Given the description of an element on the screen output the (x, y) to click on. 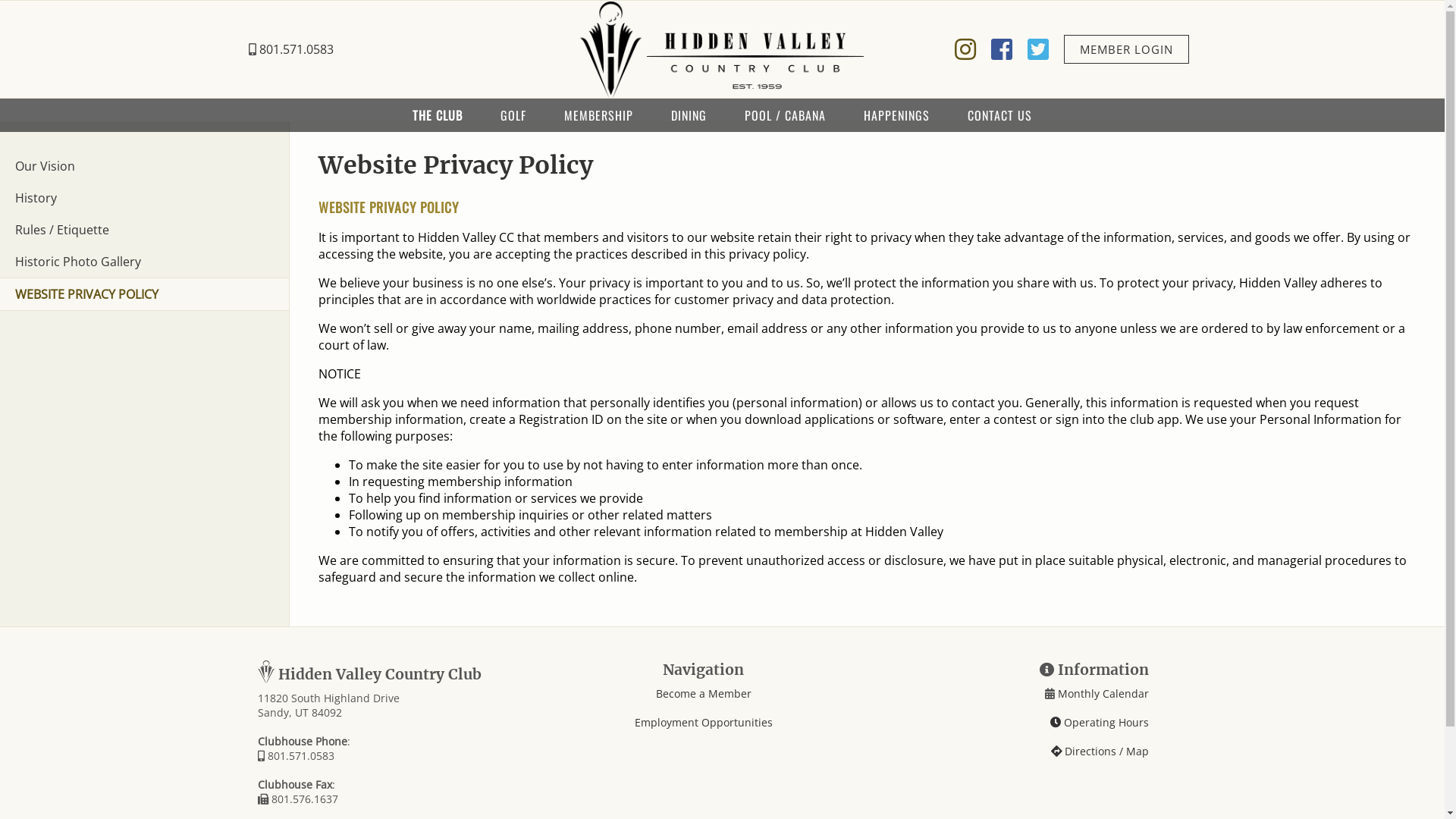
Rules / Etiquette Element type: text (144, 229)
Historic Photo Gallery Element type: text (144, 261)
801.571.0583 Element type: text (290, 48)
Our Vision Element type: text (144, 166)
CONTACT US Element type: text (999, 114)
Employment Opportunities Element type: text (702, 722)
Directions / Map Element type: text (1099, 750)
DINING Element type: text (688, 114)
THE CLUB Element type: text (437, 114)
Home Element type: hover (722, 48)
HAPPENINGS Element type: text (896, 114)
Operating Hours Element type: text (1099, 722)
WEBSITE PRIVACY POLICY Element type: text (144, 293)
History Element type: text (144, 197)
Monthly Calendar Element type: text (1101, 693)
MEMBERSHIP Element type: text (598, 114)
GOLF Element type: text (513, 114)
Become a Member Element type: text (702, 693)
MEMBER LOGIN Element type: text (1125, 48)
POOL / CABANA Element type: text (784, 114)
